Given the description of an element on the screen output the (x, y) to click on. 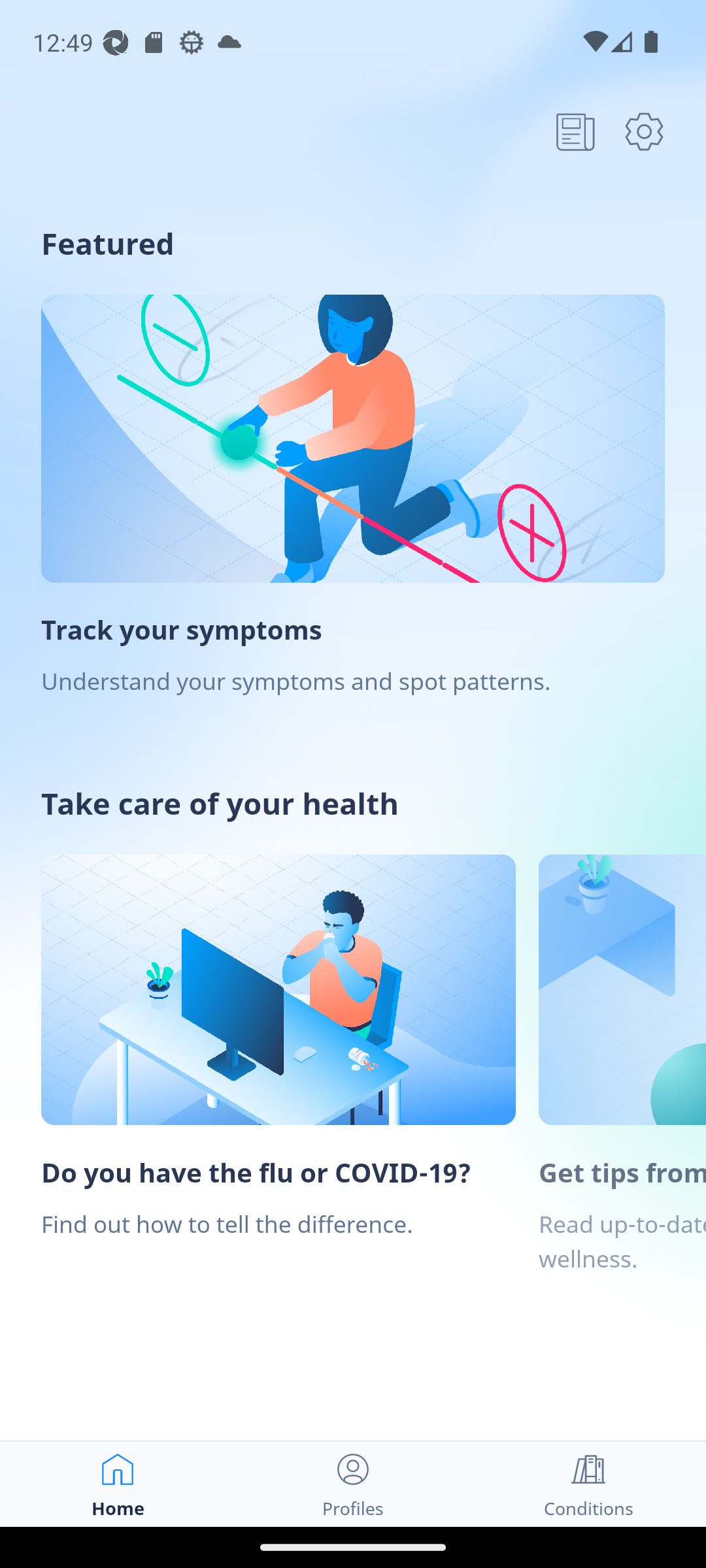
article icon , open articles (574, 131)
settings icon, open settings (644, 131)
Home (117, 1484)
Profiles (352, 1484)
Conditions (588, 1484)
